Given the description of an element on the screen output the (x, y) to click on. 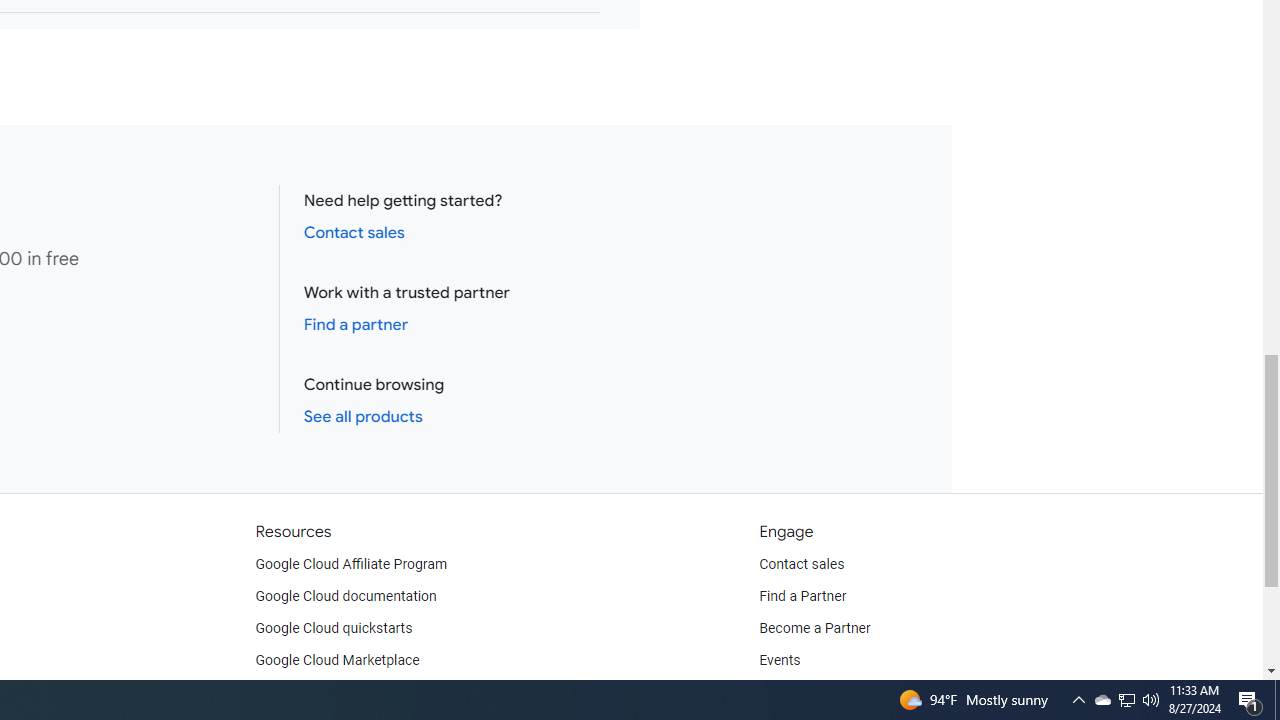
Find a Partner (803, 596)
Google Cloud documentation (345, 596)
Google Cloud quickstarts (333, 628)
Find a partner (356, 323)
Learn about cloud computing (345, 692)
Contact sales (801, 564)
Become a Partner (814, 628)
Events (780, 659)
Google Cloud Marketplace (336, 659)
Podcasts (788, 692)
Google Cloud Affiliate Program (351, 564)
See all products (362, 416)
